Given the description of an element on the screen output the (x, y) to click on. 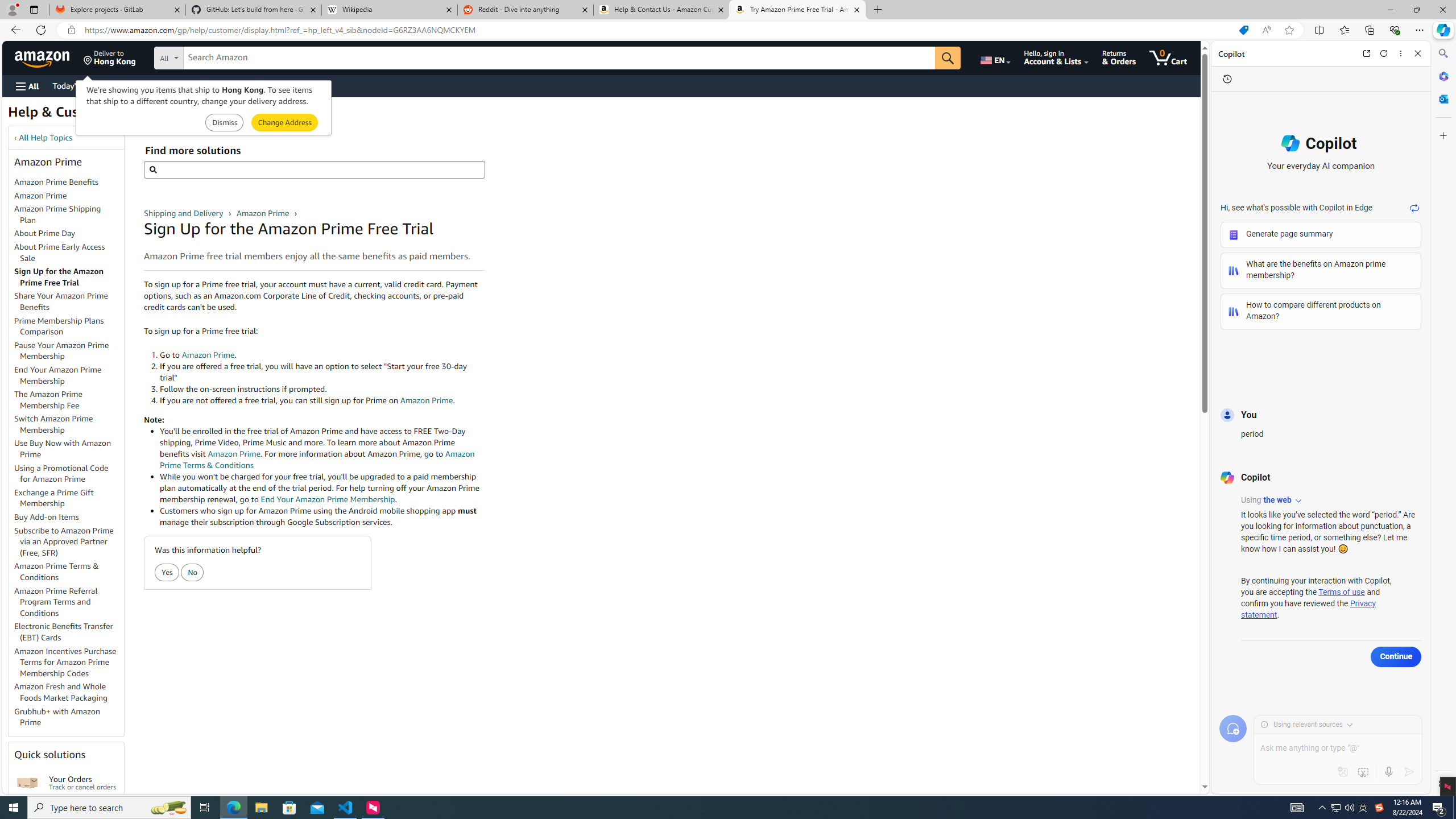
Try Amazon Prime Free Trial - Amazon Customer Service (797, 9)
About Prime Early Access Sale (59, 251)
Returns & Orders (1119, 57)
About Prime Day (44, 233)
About Prime Day (68, 233)
Search Amazon (559, 57)
Registry (205, 85)
Yes (167, 572)
0 items in cart (1168, 57)
Amazon Prime Benefits (56, 181)
Amazon Prime Referral Program Terms and Conditions (68, 602)
Amazon Fresh and Whole Foods Market Packaging (68, 692)
Pause Your Amazon Prime Membership (61, 350)
